Given the description of an element on the screen output the (x, y) to click on. 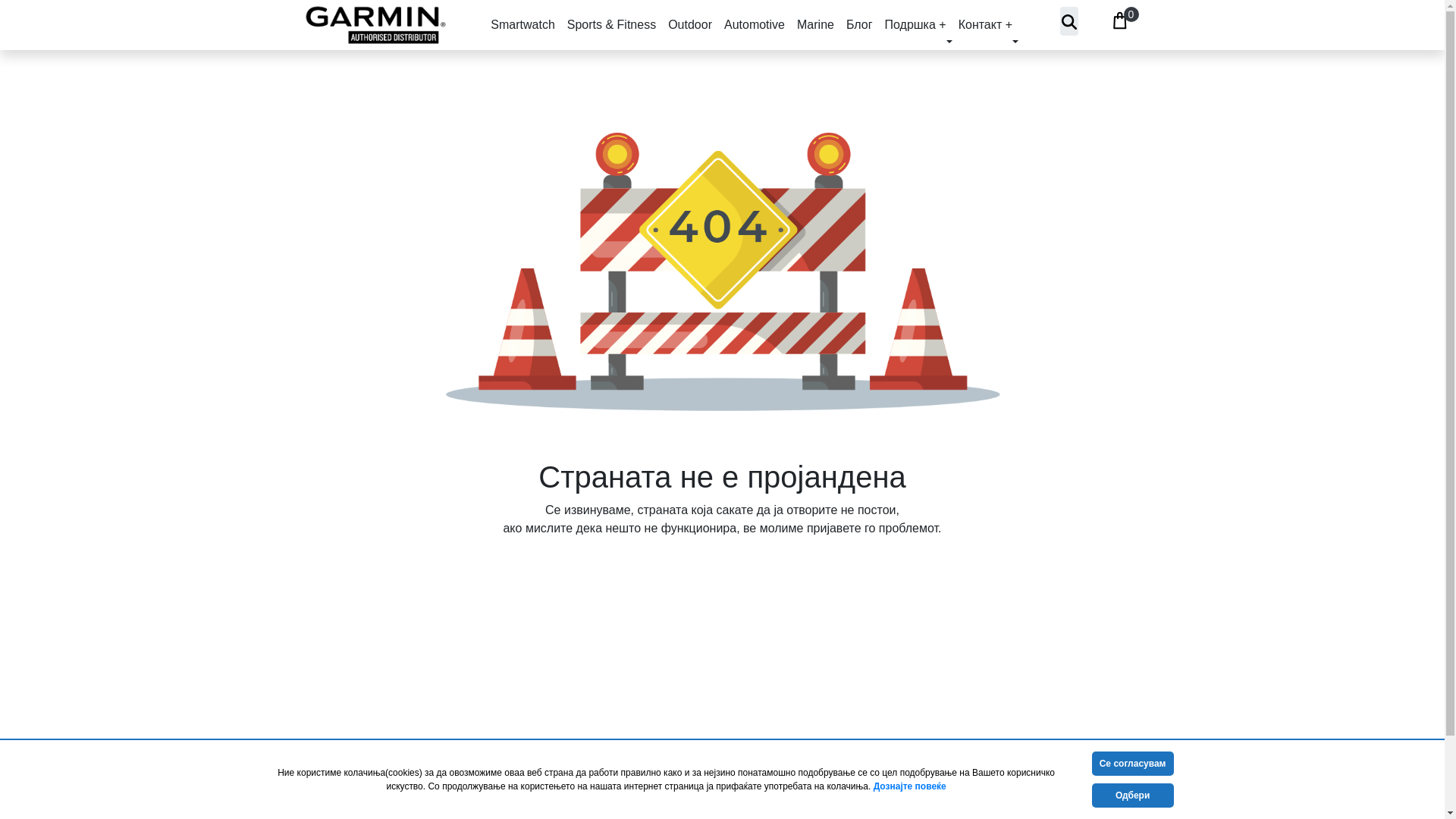
Marine (815, 24)
Smartwatch (522, 24)
Outdoor (689, 24)
0 (1119, 18)
Automotive (753, 24)
